Given the description of an element on the screen output the (x, y) to click on. 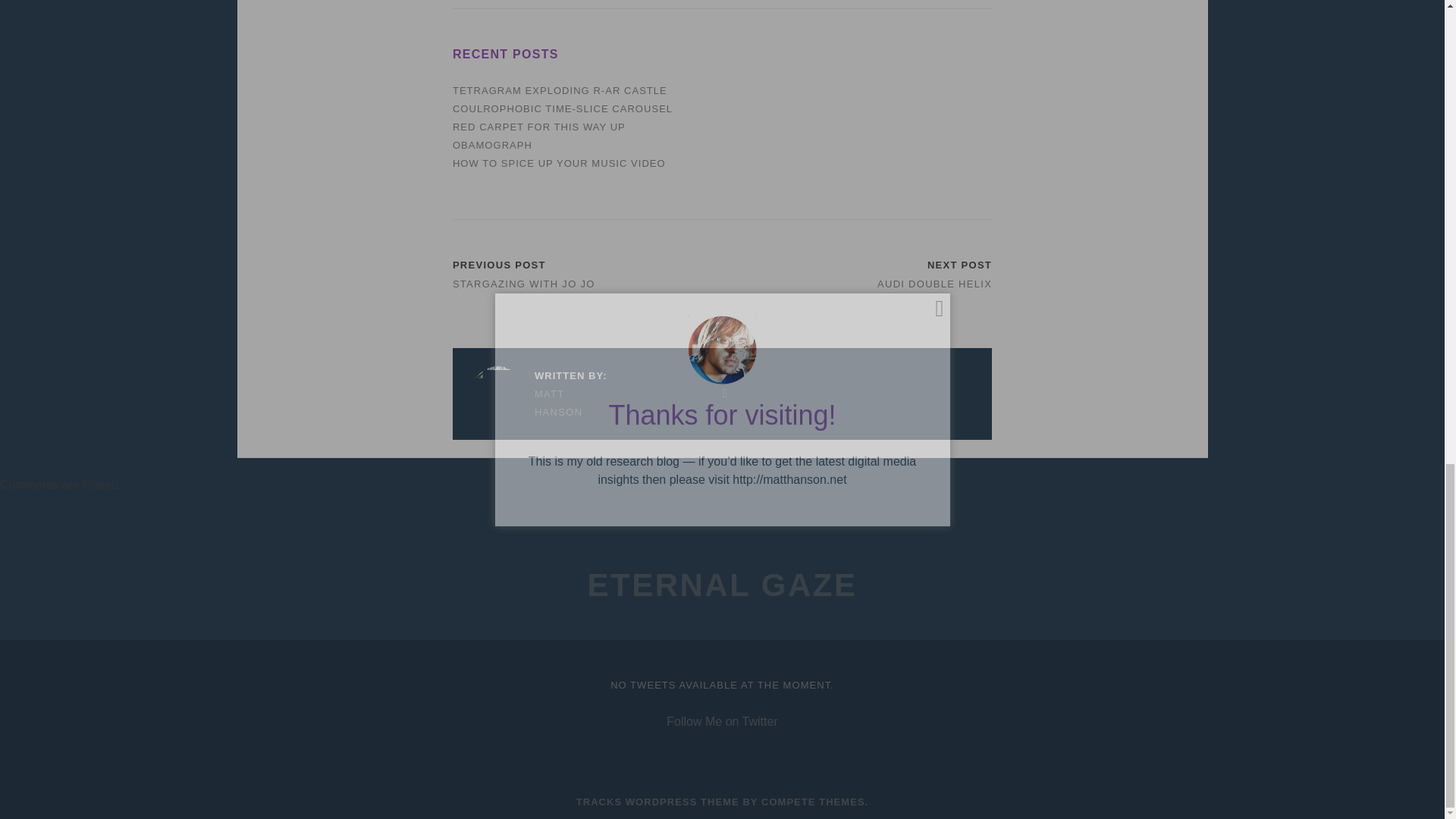
Follow Me on Twitter (721, 721)
AUDI DOUBLE HELIX (934, 283)
OBAMOGRAPH (492, 144)
TRACKS WORDPRESS THEME (657, 801)
TETRAGRAM EXPLODING R-AR CASTLE (559, 90)
MATT HANSON (538, 402)
Posts by Matt Hanson (538, 402)
STARGAZING WITH JO JO (523, 283)
ETERNAL GAZE (721, 584)
HOW TO SPICE UP YOUR MUSIC VIDEO (558, 163)
COULROPHOBIC TIME-SLICE CAROUSEL (562, 108)
RED CARPET FOR THIS WAY UP (539, 126)
